Given the description of an element on the screen output the (x, y) to click on. 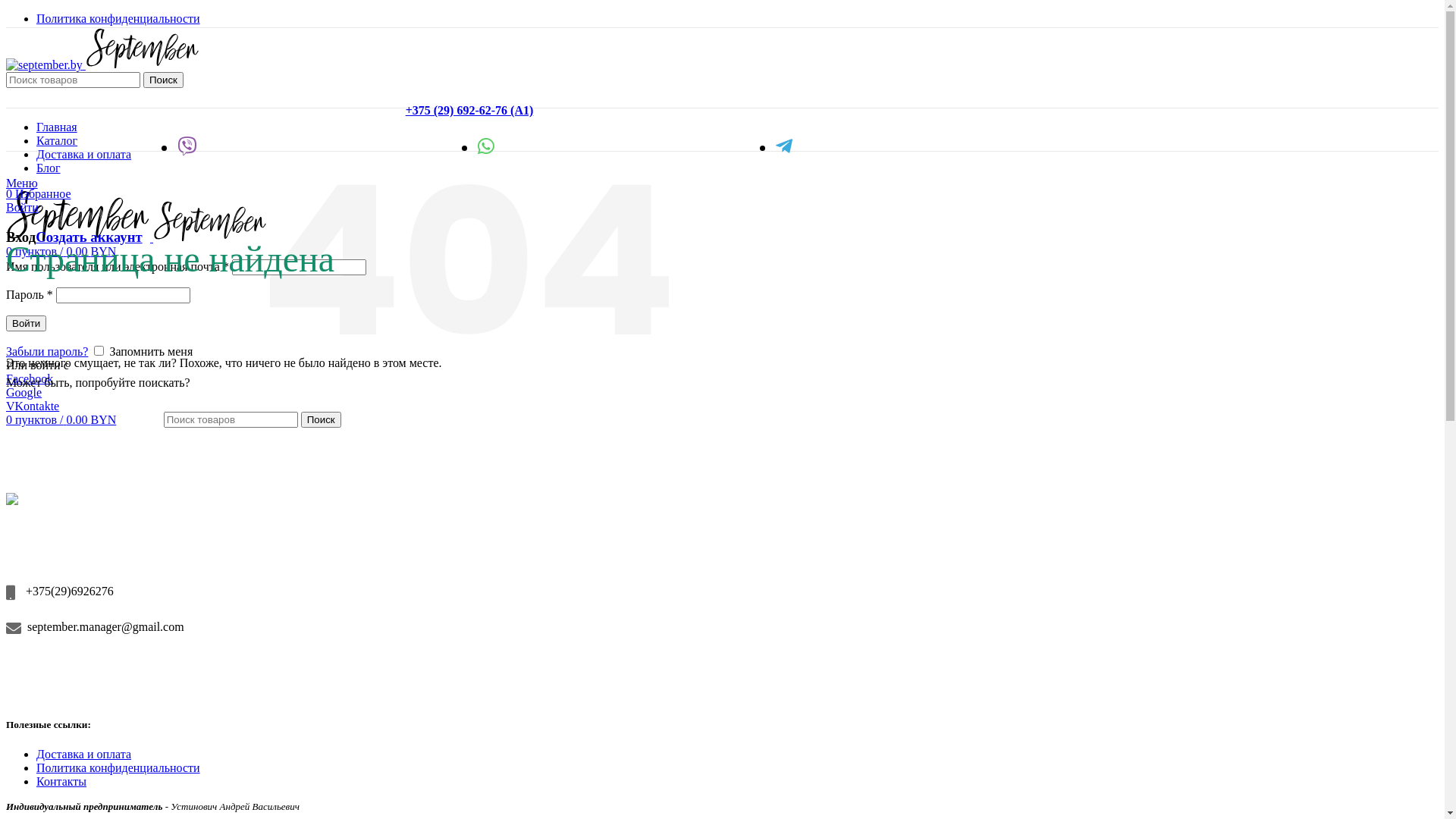
+375 (29) 692-62-76 (A1) Element type: text (469, 109)
Google Element type: text (23, 391)
Facebook Element type: text (29, 378)
VKontakte Element type: text (32, 405)
